Given the description of an element on the screen output the (x, y) to click on. 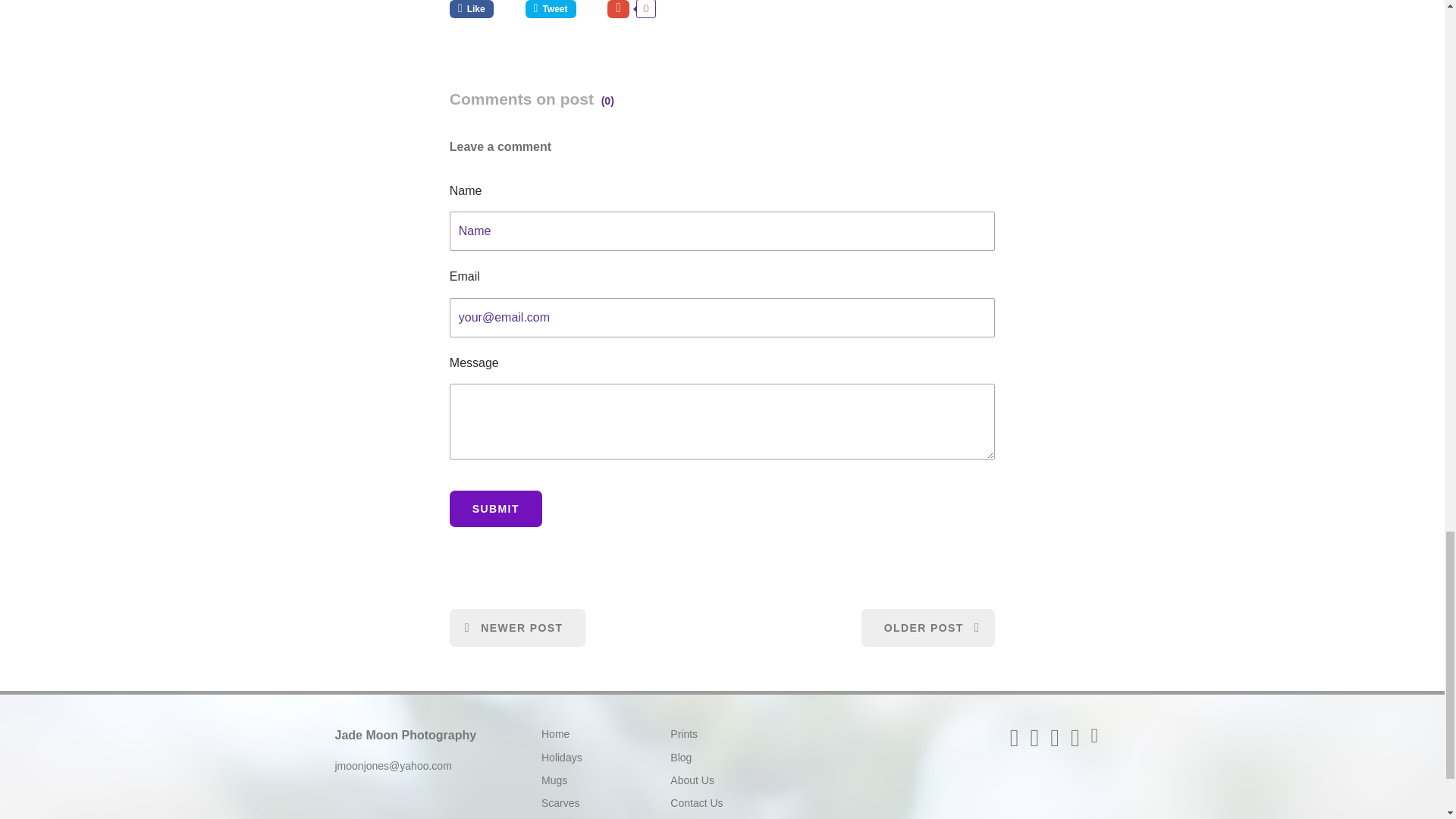
Home (555, 734)
0 (631, 9)
Holidays (561, 757)
Submit (495, 508)
Like (481, 9)
Tweet (560, 9)
Scarves (560, 802)
Mugs (554, 779)
Submit (495, 508)
